Given the description of an element on the screen output the (x, y) to click on. 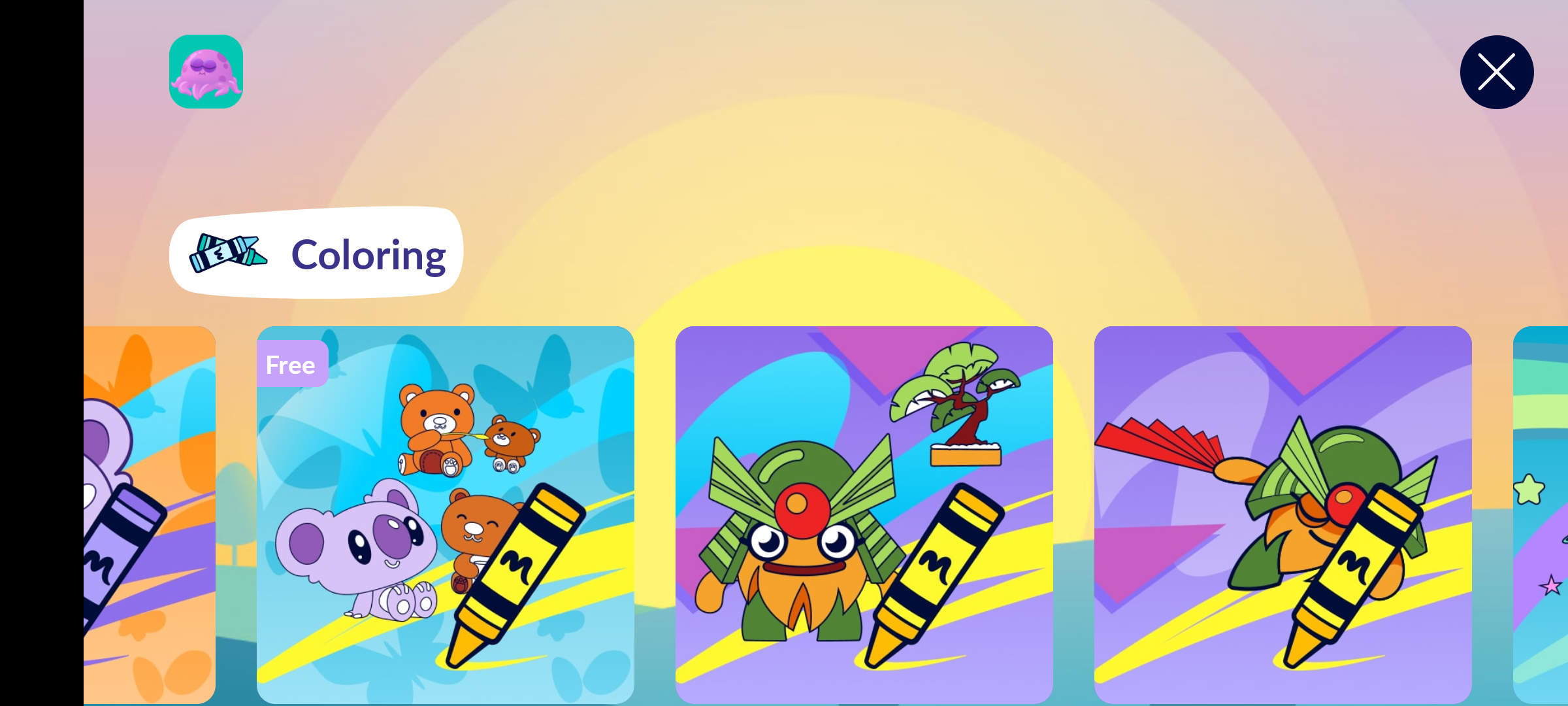
Profile icon (205, 71)
Featured Content Free (446, 514)
Featured Content (864, 514)
Featured Content (1283, 514)
